Given the description of an element on the screen output the (x, y) to click on. 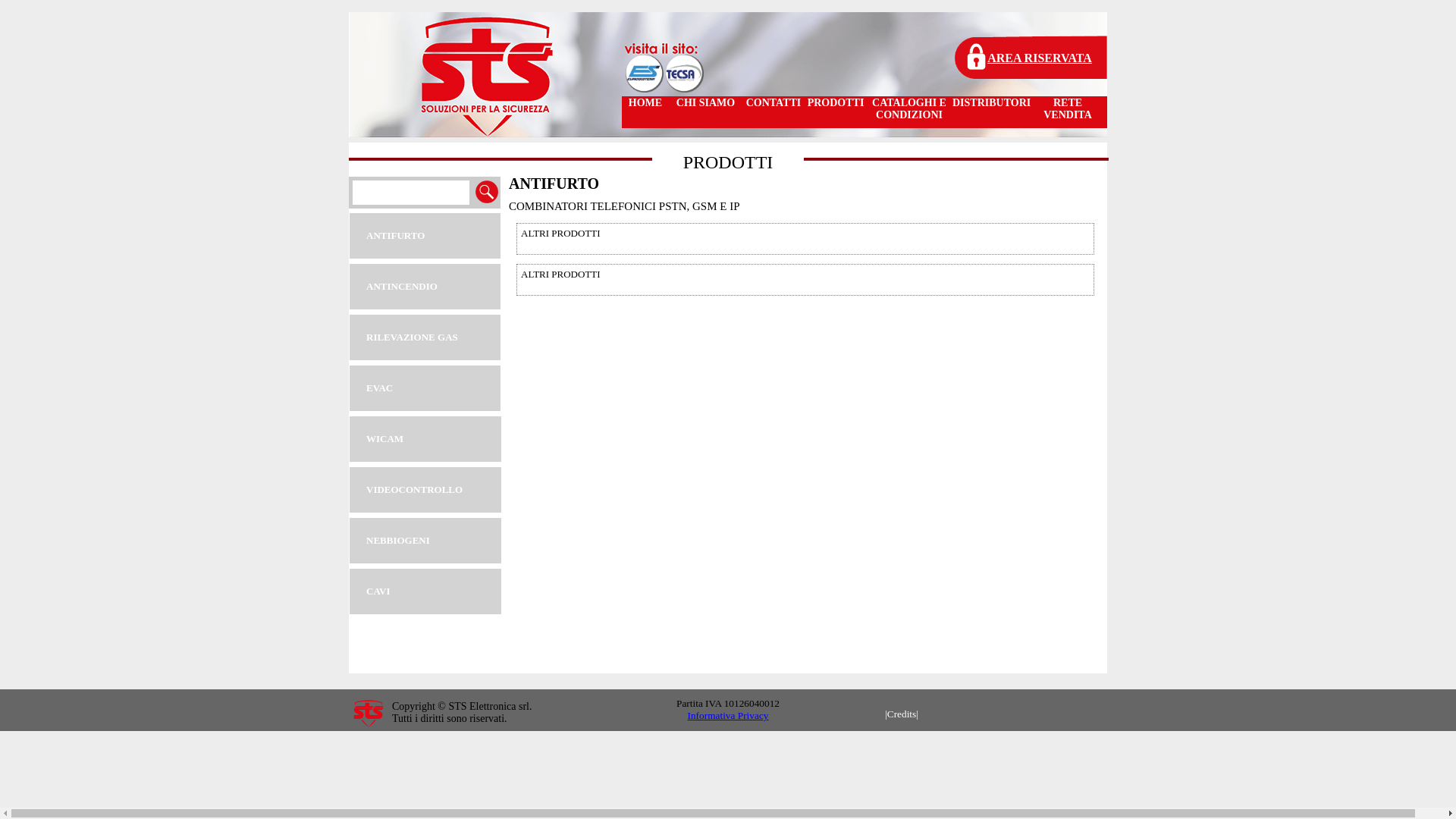
DISTRIBUTORI Element type: text (990, 112)
RETE VENDITA Element type: text (1067, 112)
CAVI Element type: text (425, 591)
AREA RISERVATA Element type: text (1039, 58)
PRODOTTI Element type: text (835, 112)
ALTRI PRODOTTI Element type: text (804, 279)
ANTIFURTO Element type: text (553, 183)
CONTATTI Element type: text (773, 112)
Informativa Privacy Element type: text (727, 715)
CATALOGHI E CONDIZIONI Element type: text (908, 112)
WICAM Element type: text (425, 438)
NEBBIOGENI Element type: text (425, 540)
ANTIFURTO Element type: text (425, 235)
ALTRI PRODOTTI Element type: text (804, 238)
HOME Element type: text (645, 112)
|Credits| Element type: text (901, 713)
EVAC Element type: text (425, 388)
ANTINCENDIO Element type: text (425, 286)
CHI SIAMO Element type: text (705, 112)
RILEVAZIONE GAS Element type: text (425, 337)
VIDEOCONTROLLO Element type: text (425, 489)
